Given the description of an element on the screen output the (x, y) to click on. 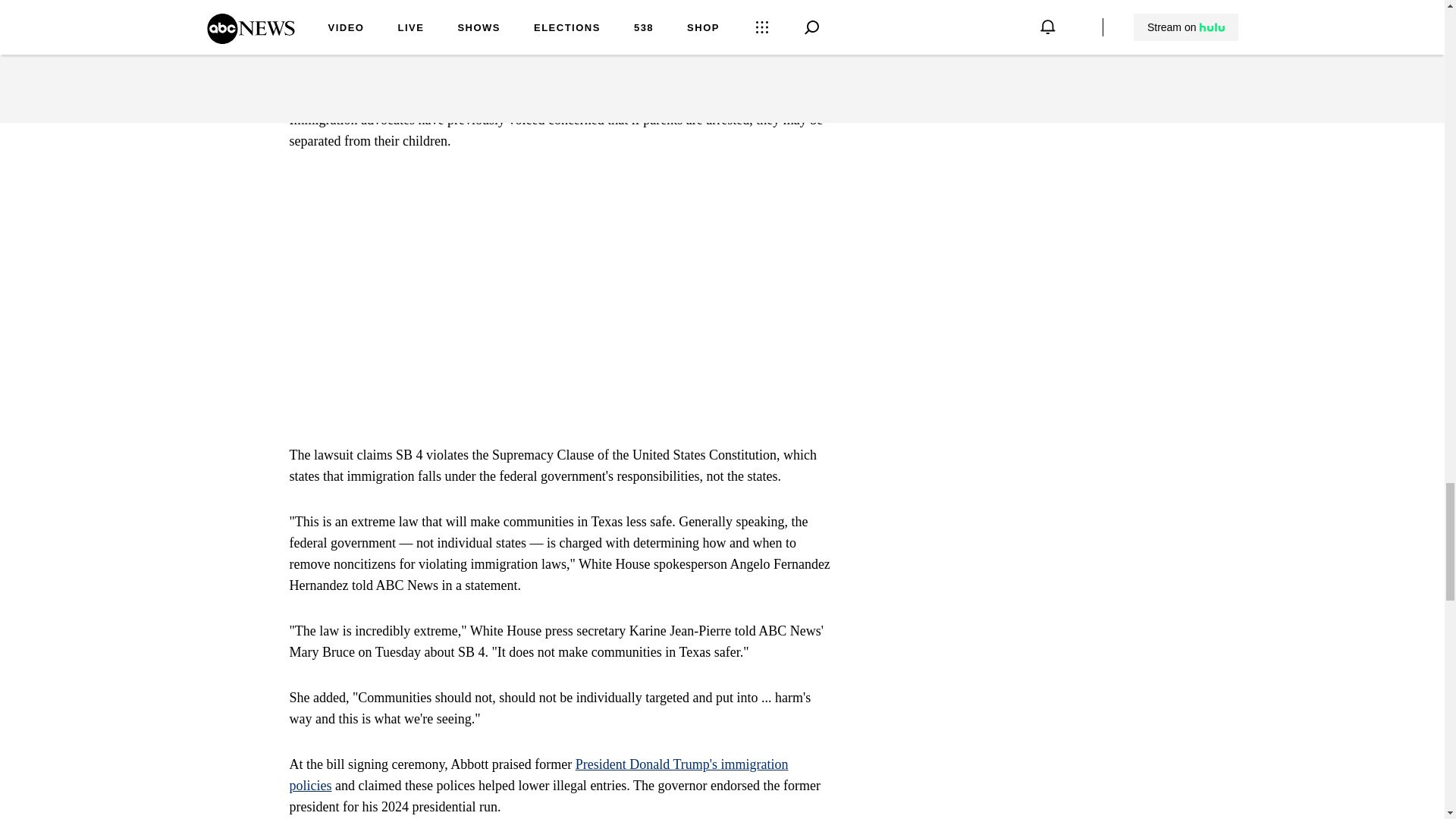
Show more (801, 62)
President Donald Trump's immigration policies (539, 774)
